Given the description of an element on the screen output the (x, y) to click on. 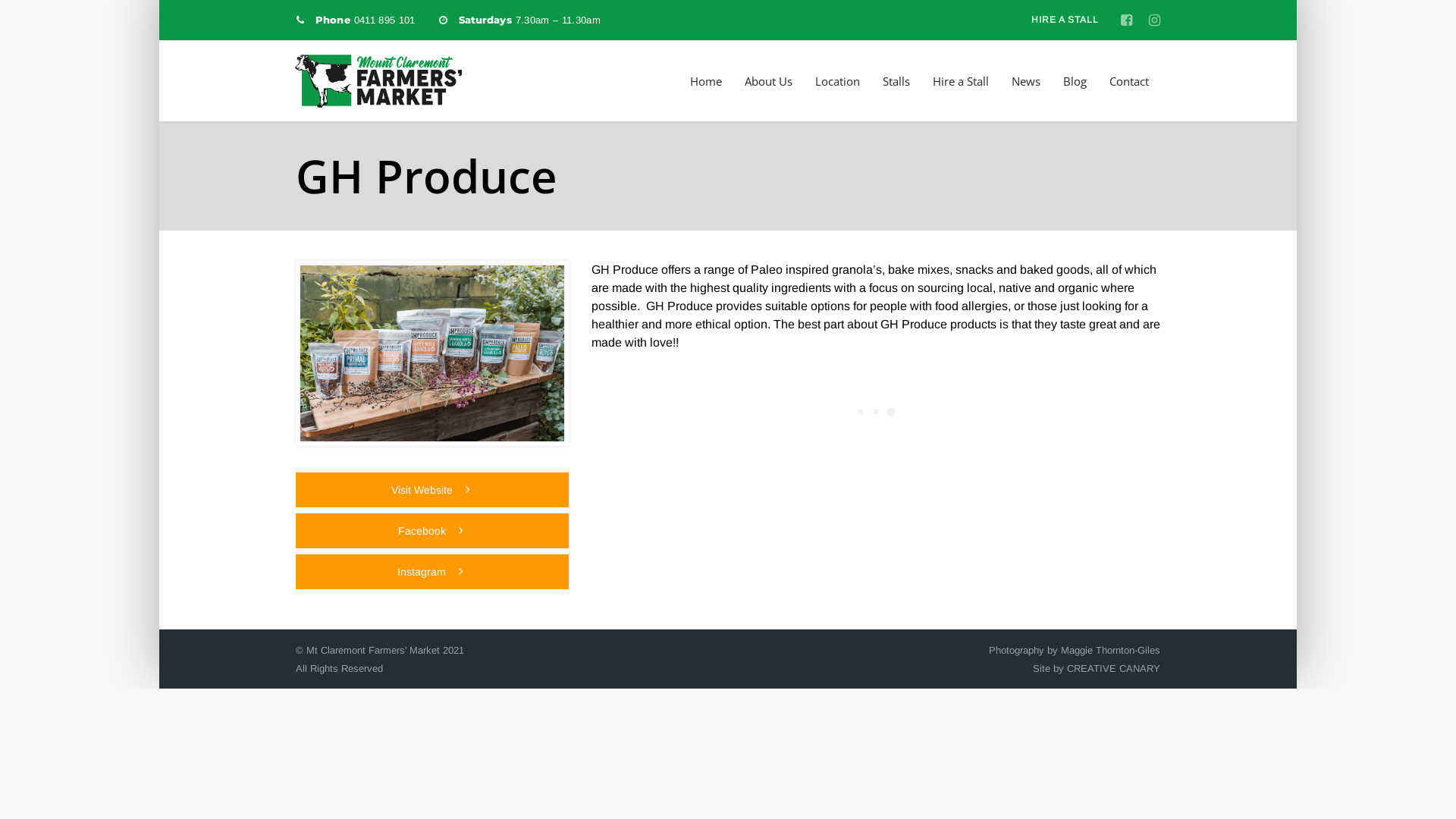
Contact Element type: text (1128, 81)
Hire a Stall Element type: text (960, 81)
Instagram Element type: text (431, 571)
HIRE A STALL Element type: text (1064, 19)
CREATIVE CANARY Element type: text (1113, 668)
Stalls Element type: text (896, 81)
About Us Element type: text (768, 81)
Home Element type: text (705, 81)
Maggie Thornton-Giles Element type: text (1110, 649)
Location Element type: text (837, 81)
Visit Website Element type: text (431, 489)
Facebook Element type: text (431, 530)
News Element type: text (1025, 81)
Blog Element type: text (1074, 81)
